Given the description of an element on the screen output the (x, y) to click on. 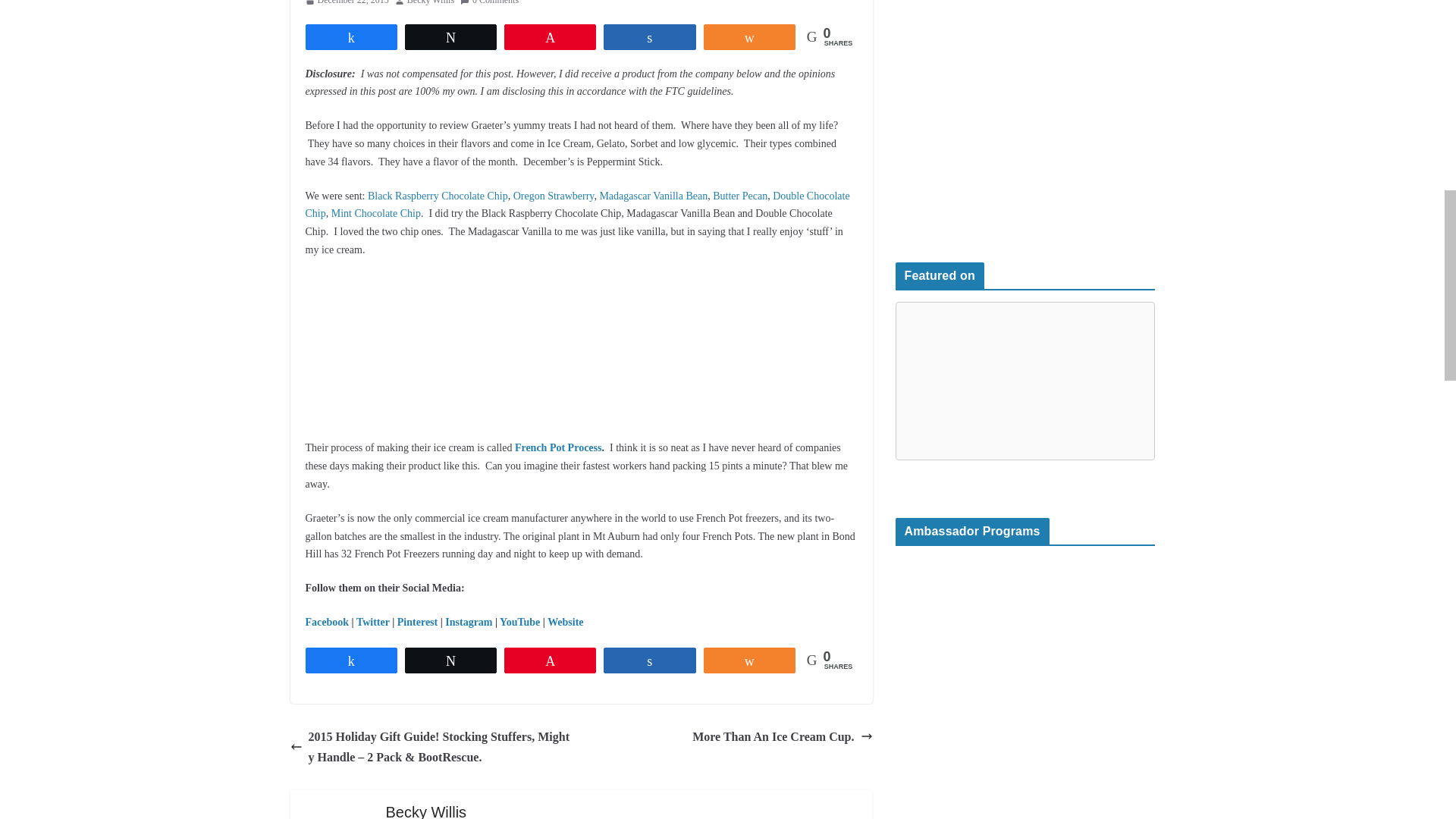
Butter Pecan (740, 195)
Black Raspberry Chocolate Chip (438, 195)
Becky Willis (430, 4)
Double Chocolate Chip (576, 205)
Butter Pecan (740, 195)
Oregon Strawberry (553, 195)
Madagascar Vanilla Bean (652, 195)
December 22, 2015 (346, 4)
Mint Chocolate Chip (375, 213)
4:33 pm (346, 4)
0 Comments (489, 4)
Double Chocolate Chip (576, 205)
Black Raspberry Chocolate Chip (438, 195)
Madagascar Vanilla Bean (652, 195)
Oregon Strawberry (553, 195)
